Given the description of an element on the screen output the (x, y) to click on. 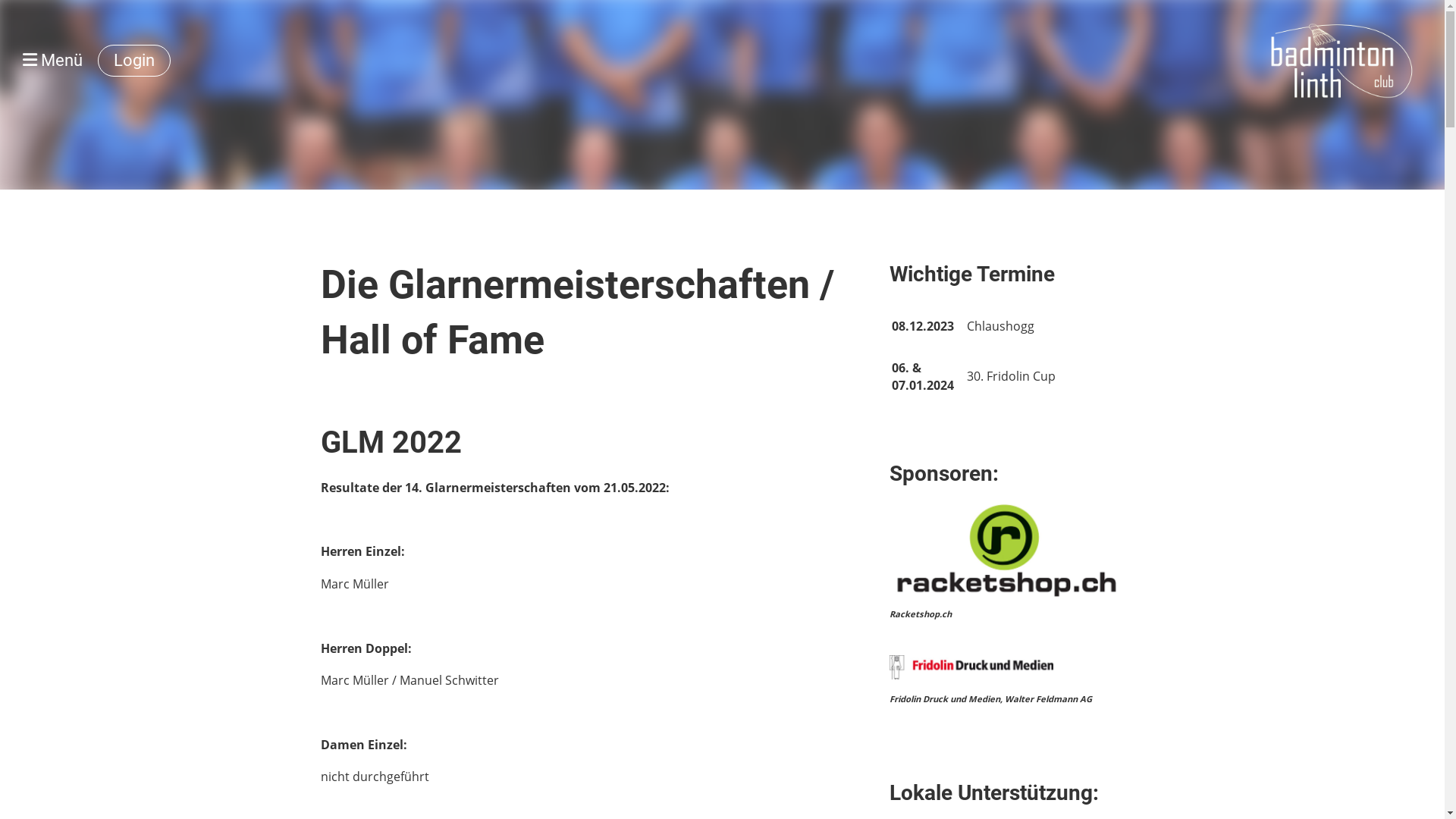
Login Element type: text (133, 60)
